Given the description of an element on the screen output the (x, y) to click on. 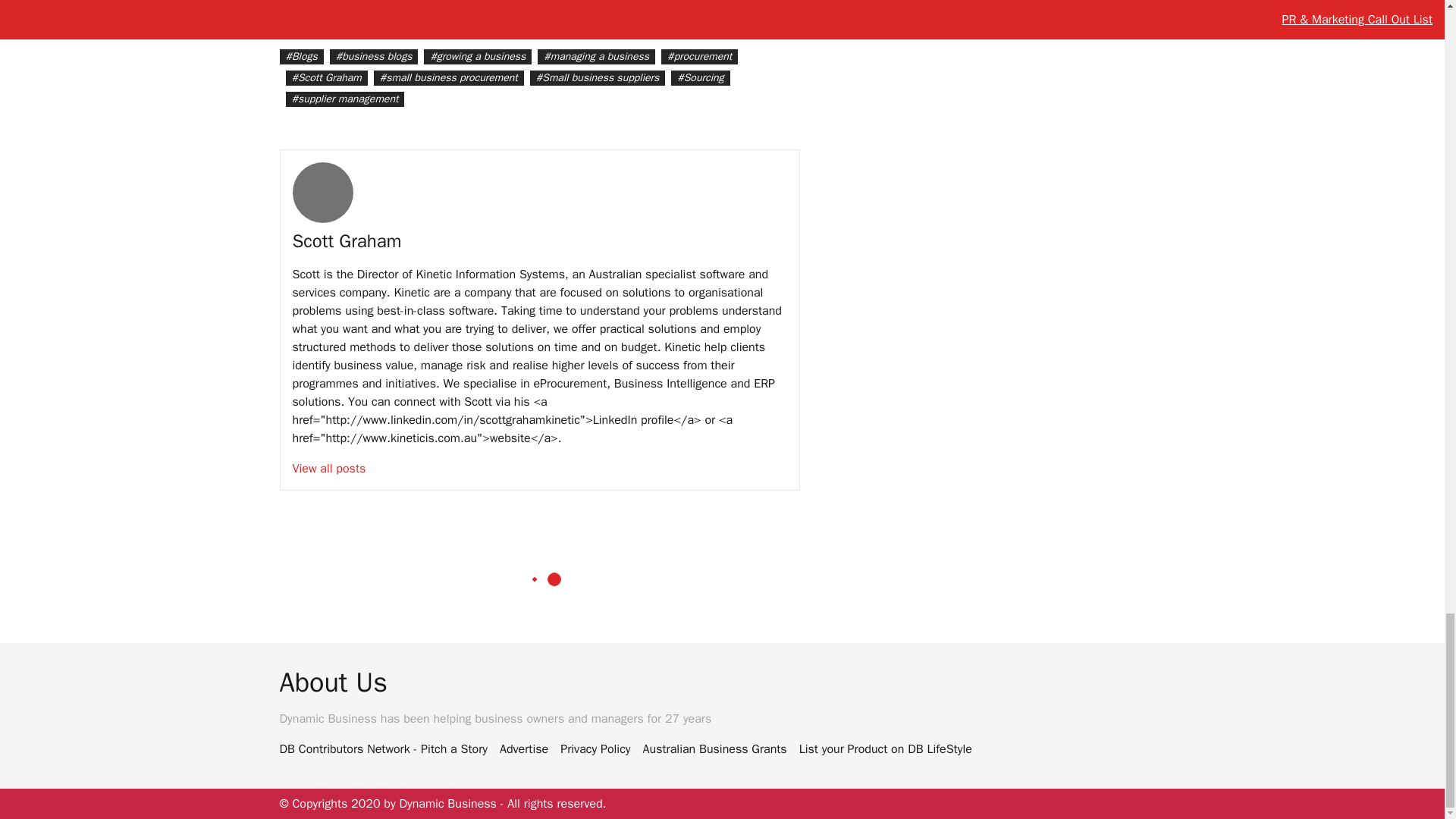
Post Comment (726, 9)
